Given the description of an element on the screen output the (x, y) to click on. 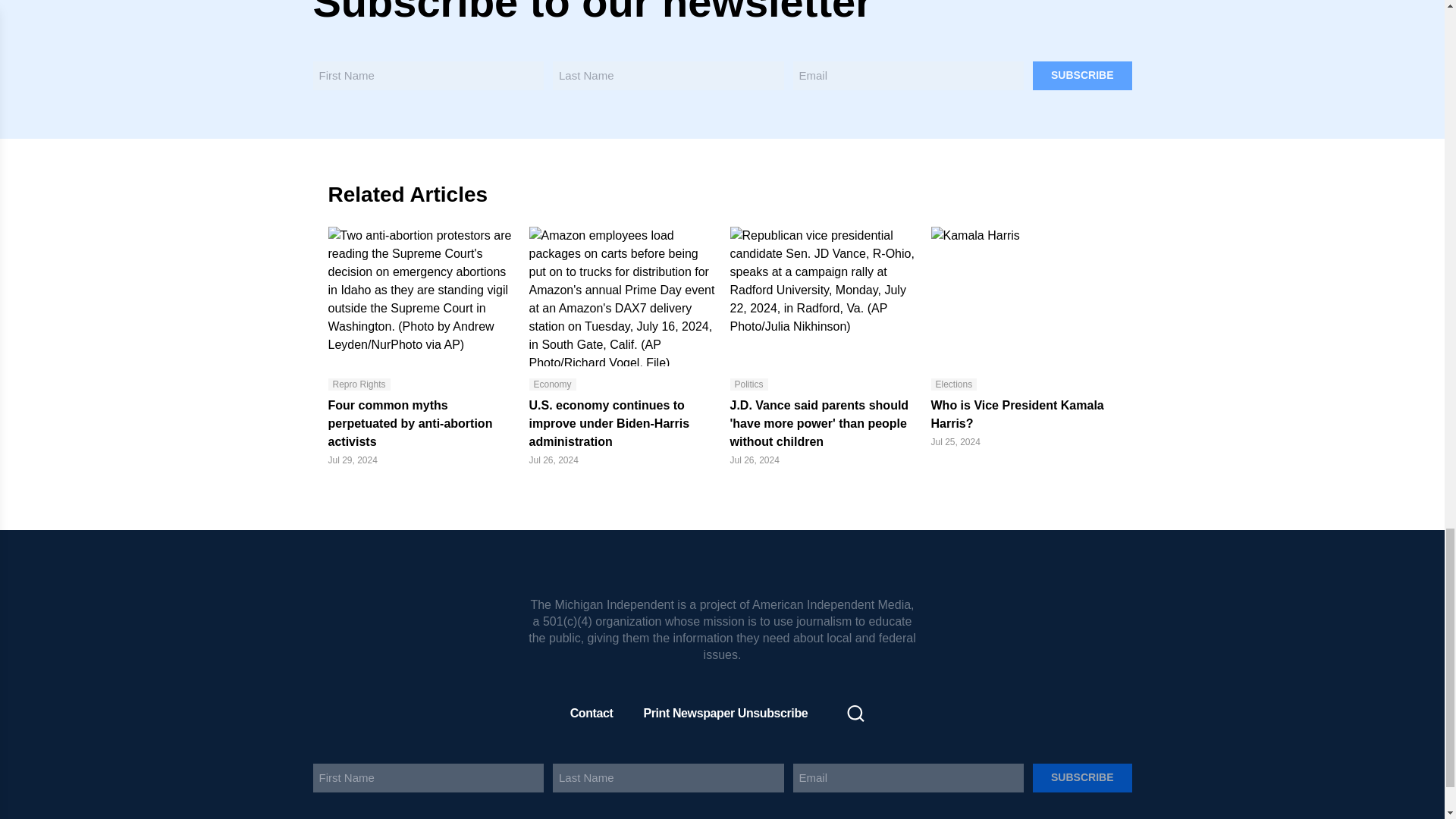
Subscribe (1081, 778)
Subscribe (1081, 75)
